Given the description of an element on the screen output the (x, y) to click on. 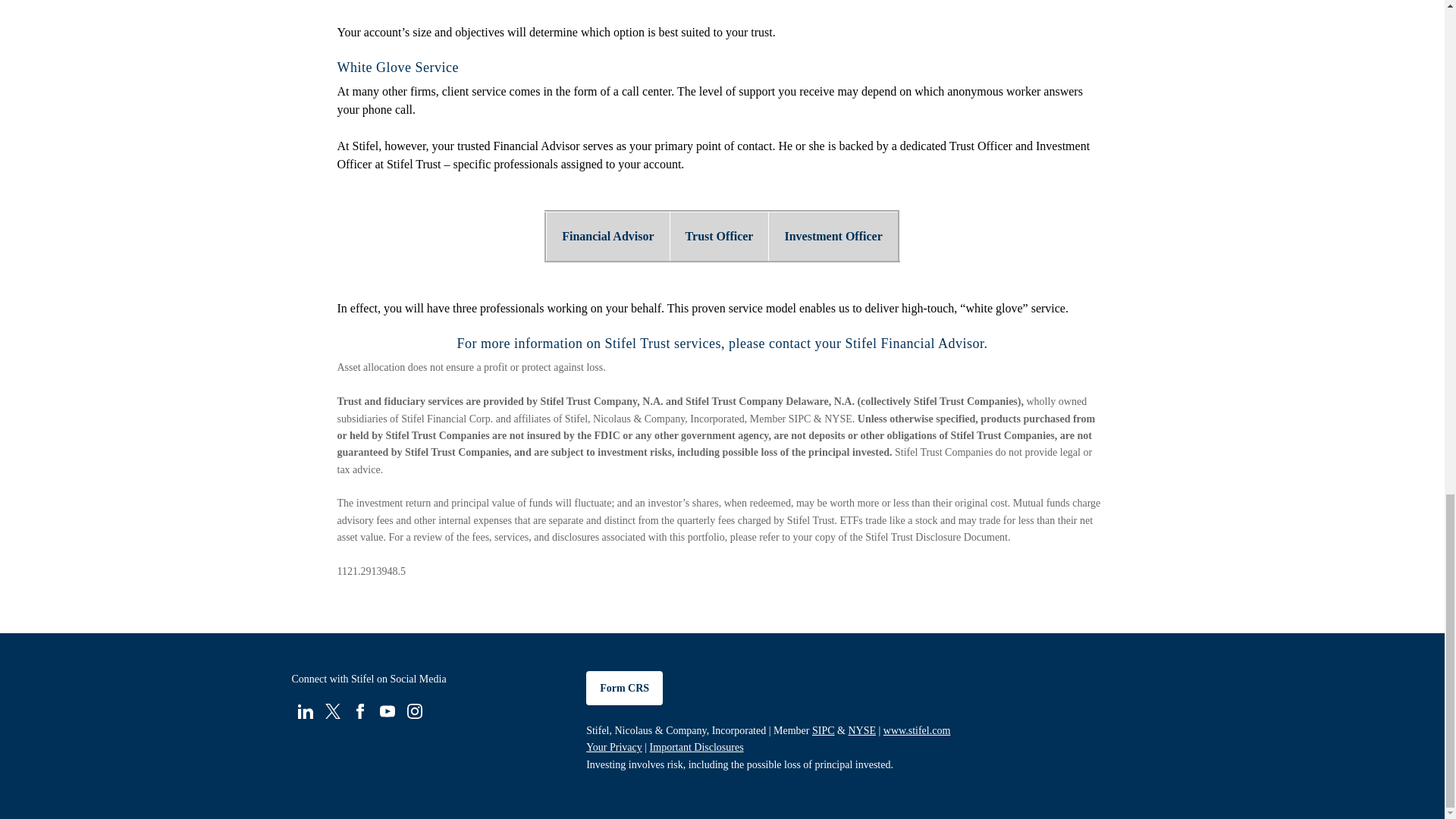
visit us at Twitter (331, 710)
www.stifel.com (916, 730)
visit us at LinkedIn (305, 710)
NYSE (861, 730)
visit us at YouTube (386, 710)
visit us at Instagram (414, 710)
Your Privacy (614, 747)
visit us at Facebook (359, 710)
Important Disclosures (696, 747)
Form CRS (624, 687)
